Given the description of an element on the screen output the (x, y) to click on. 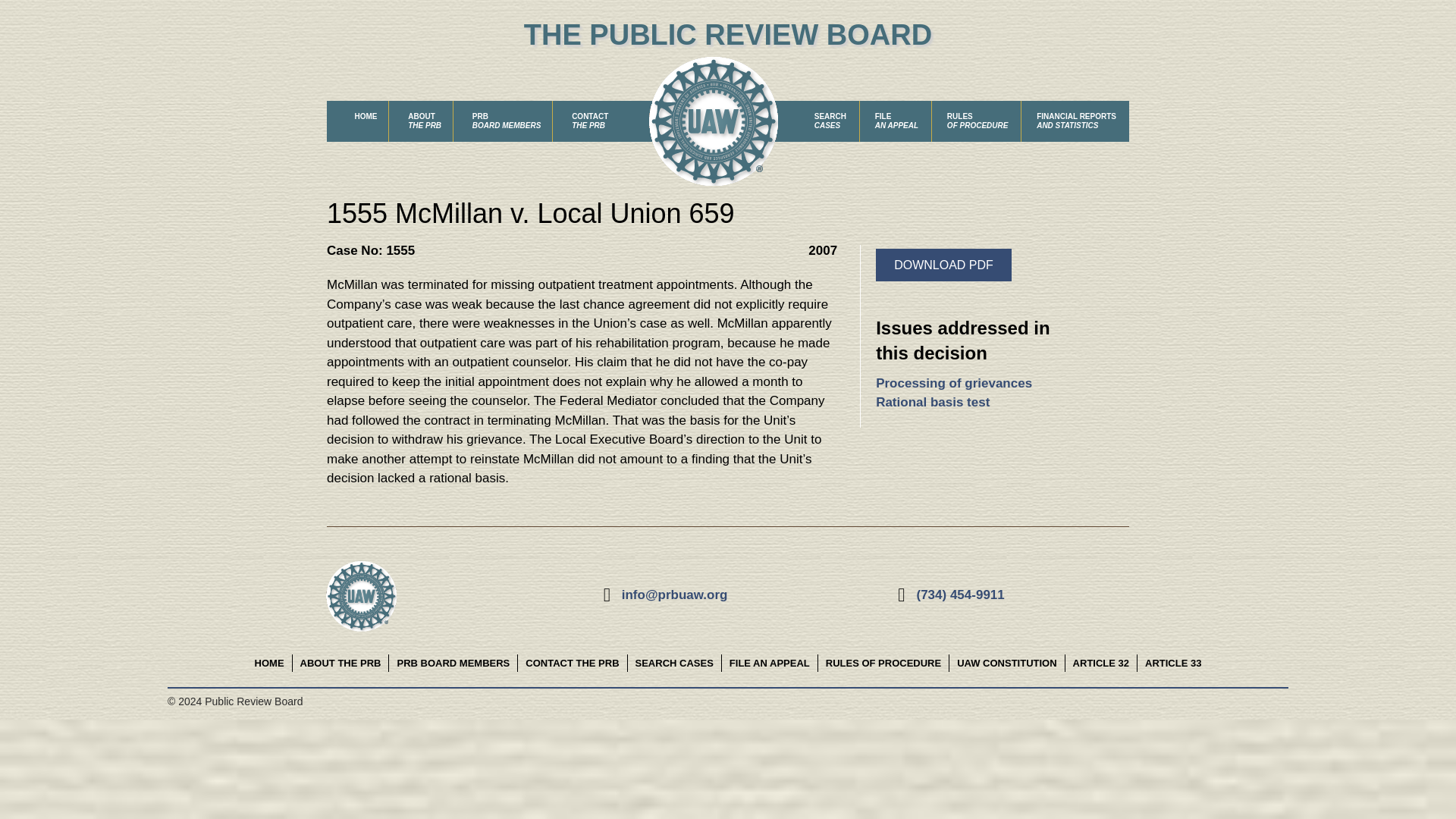
ARTICLE 32 (1101, 662)
RULES OF PROCEDURE (883, 662)
Rational basis test (424, 120)
DOWNLOAD PDF (507, 120)
ARTICLE 33 (933, 401)
Processing of grievances (943, 264)
FILE AN APPEAL (1172, 662)
HOME (954, 382)
CONTACT THE PRB (769, 662)
UAW CONSTITUTION (269, 662)
ABOUT THE PRB (572, 662)
